Given the description of an element on the screen output the (x, y) to click on. 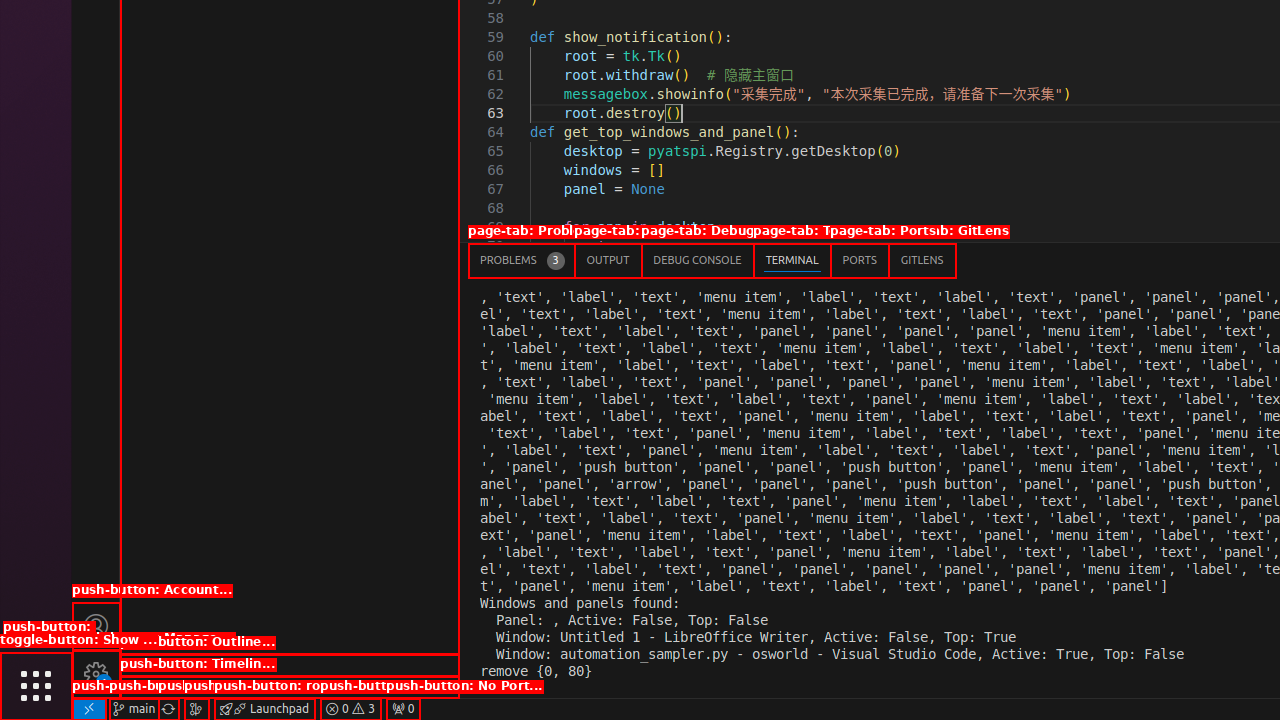
Show the GitLens Commit Graph Element type: push-button (196, 709)
Terminal (Ctrl+`) Element type: page-tab (792, 260)
OSWorld (Git) - Synchronize Changes Element type: push-button (168, 709)
Debug Console (Ctrl+Shift+Y) Element type: page-tab (697, 260)
Outline Section Element type: push-button (289, 665)
